Given the description of an element on the screen output the (x, y) to click on. 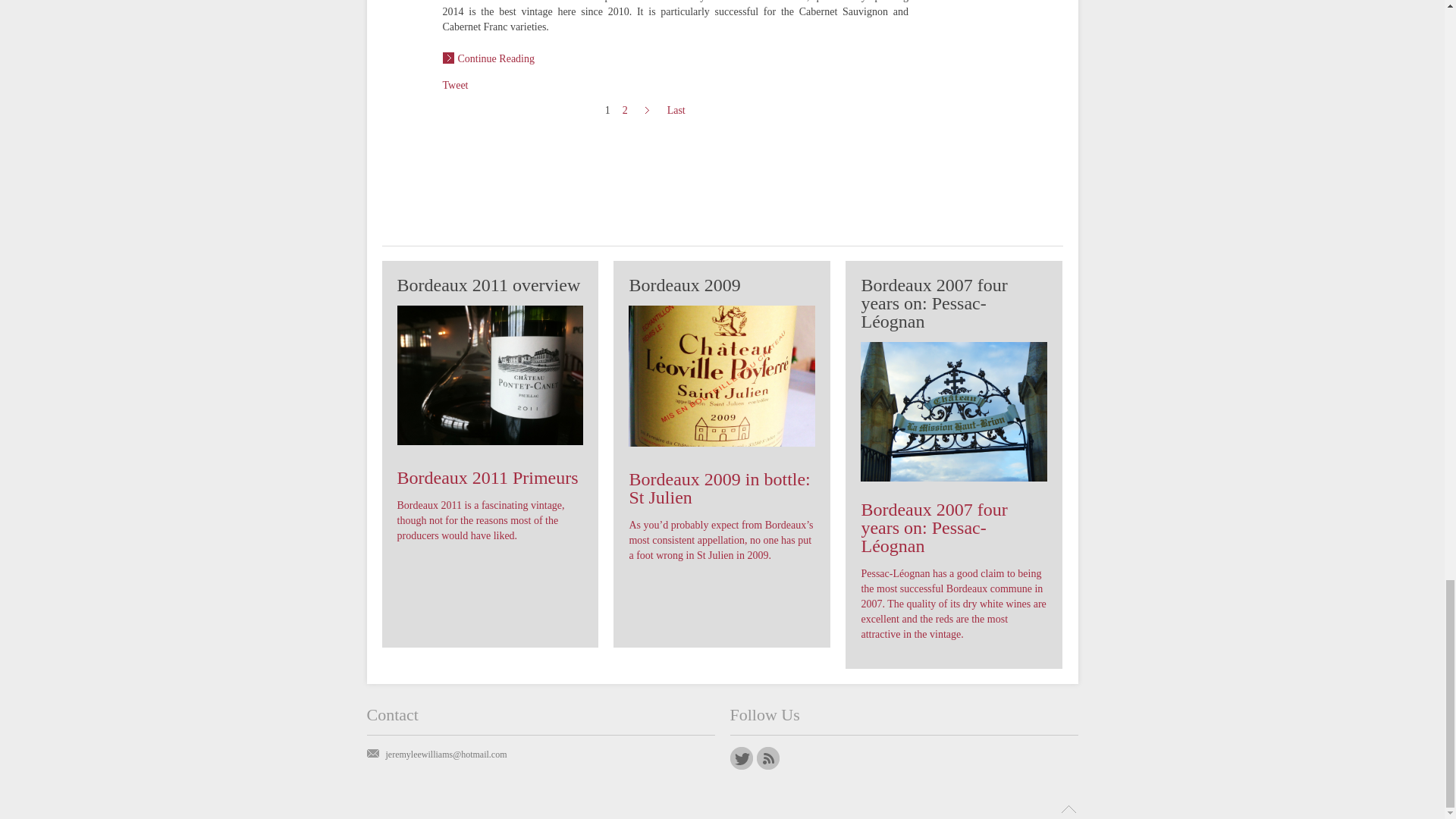
RSS (767, 757)
Twitter (740, 757)
